Given the description of an element on the screen output the (x, y) to click on. 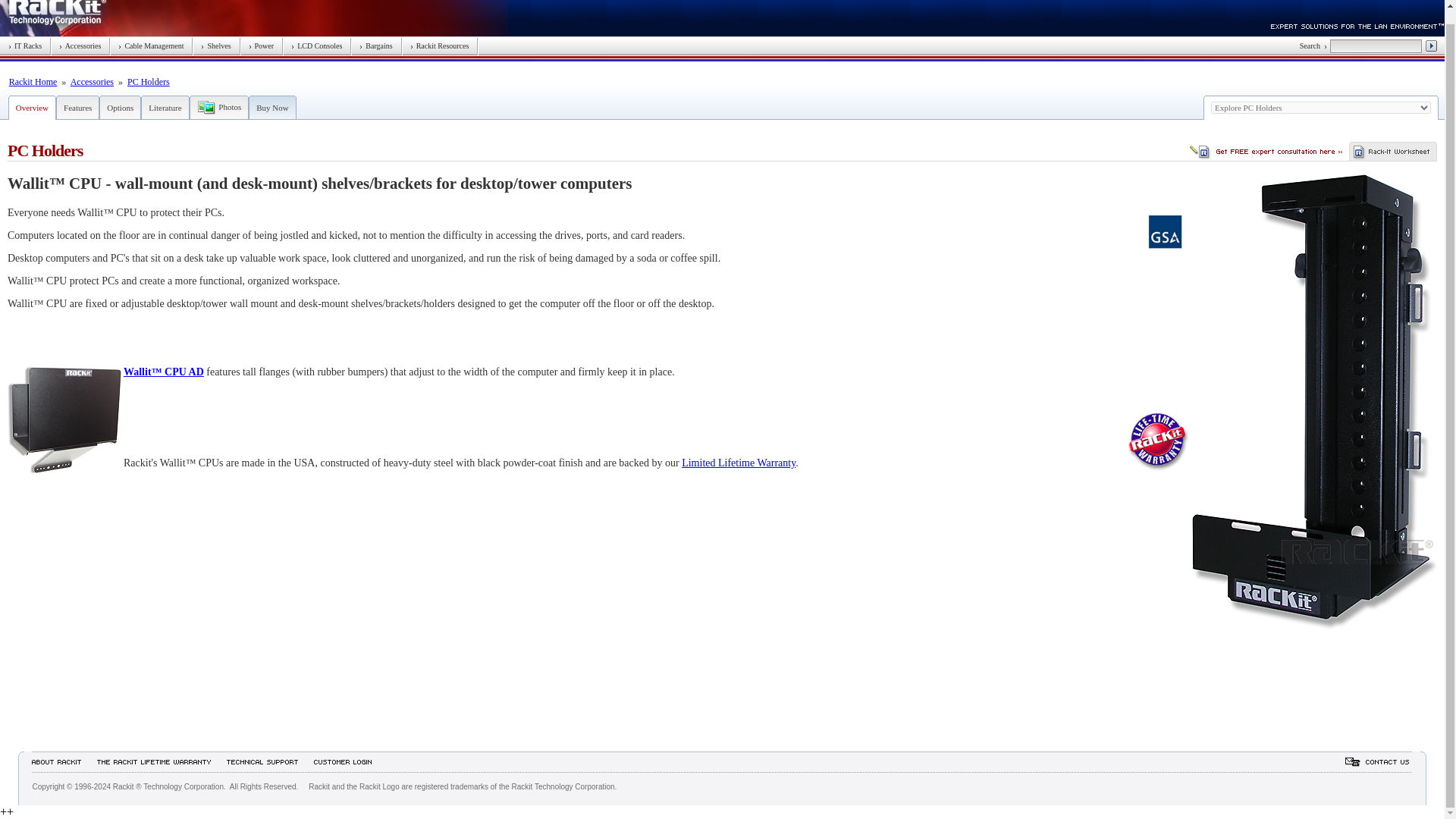
Options (119, 107)
  Power (261, 45)
  Bargains (375, 45)
Literature (164, 107)
Overview (32, 107)
Rackit Home (33, 81)
Buy Now (272, 107)
Features (77, 107)
  Shelves (215, 45)
